Given the description of an element on the screen output the (x, y) to click on. 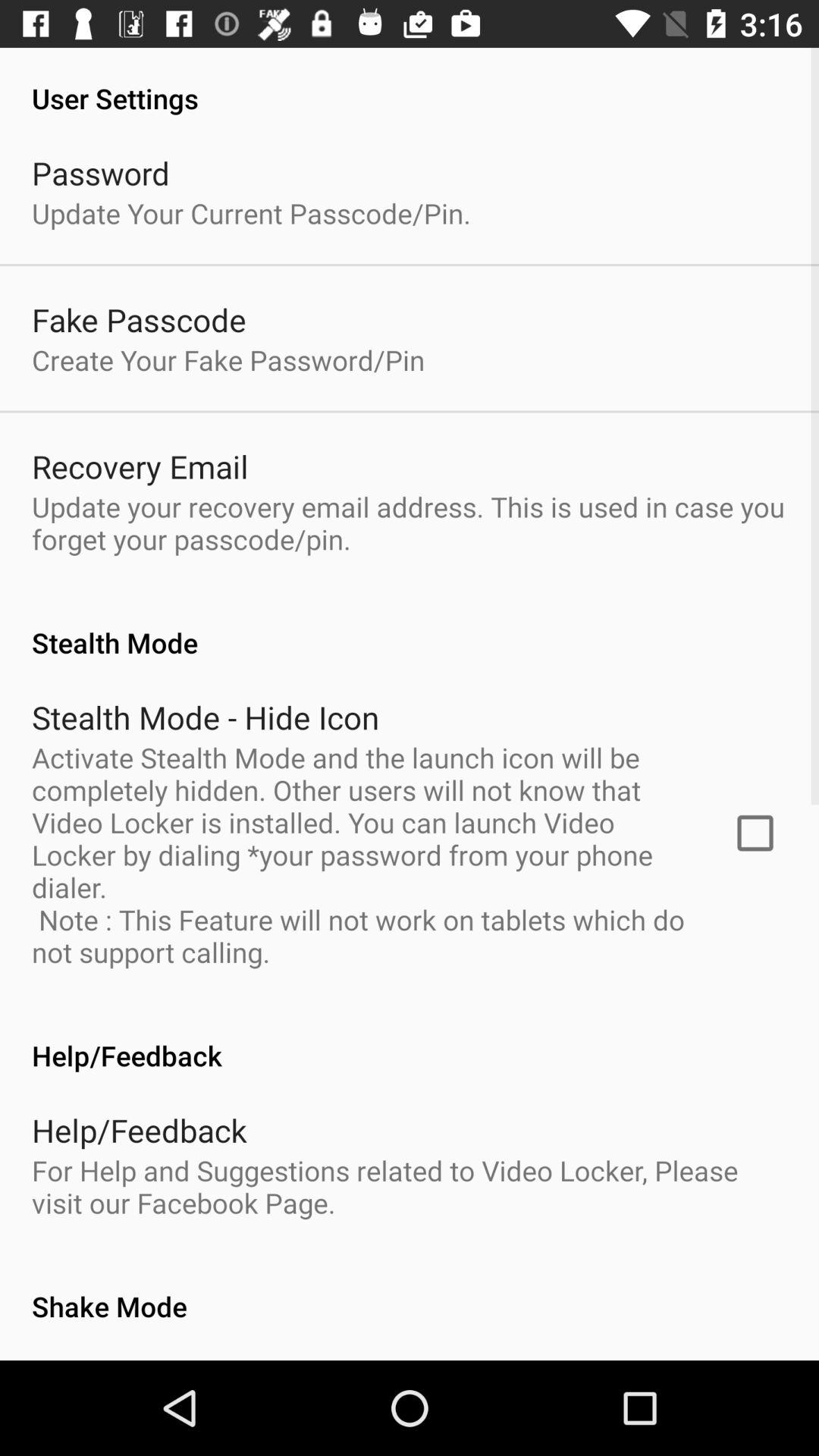
choose the shake phone to app (207, 1359)
